Given the description of an element on the screen output the (x, y) to click on. 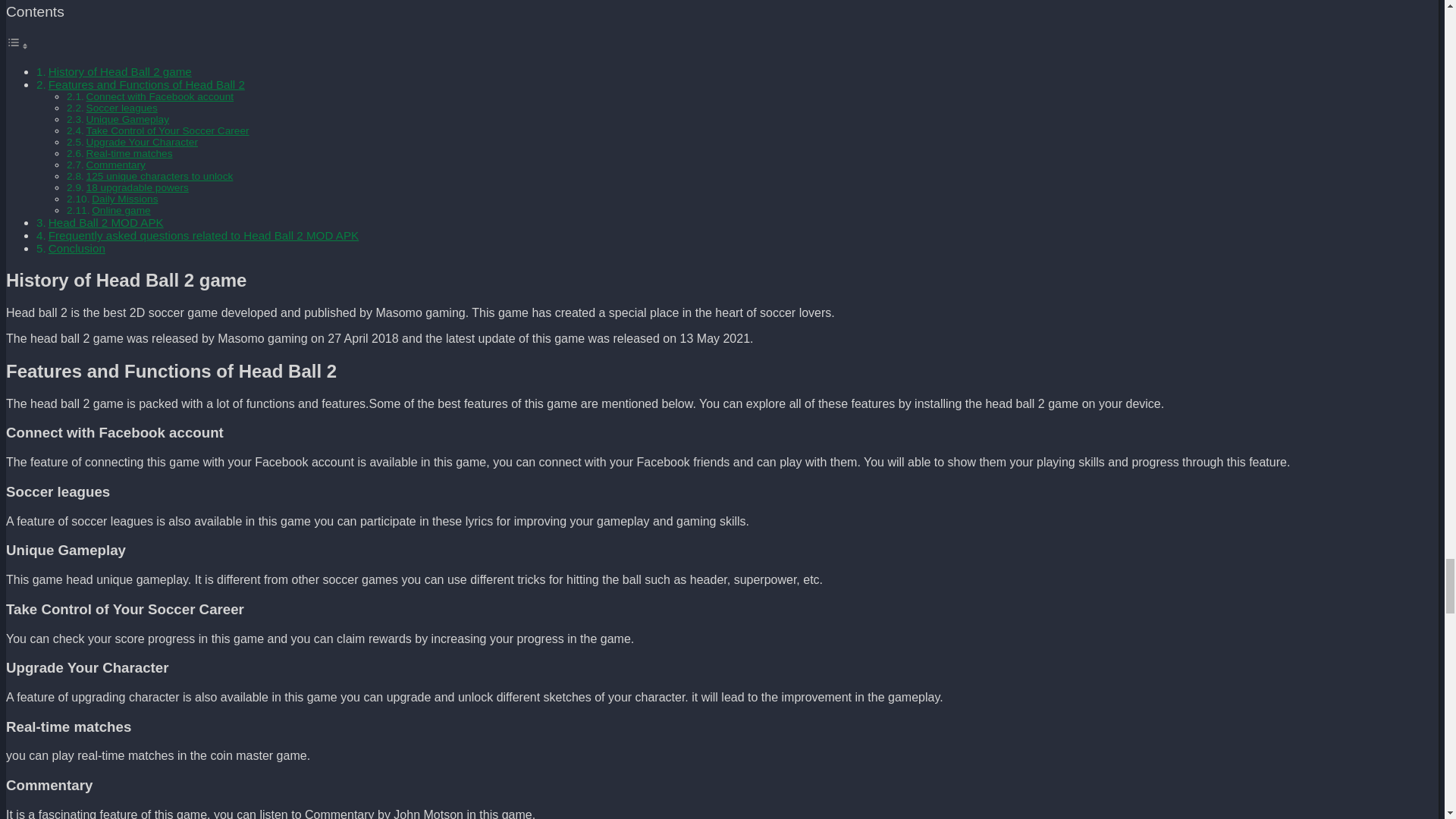
History of Head Ball 2 game (120, 71)
Real-time matches (129, 153)
Unique Gameplay (126, 119)
Commentary (115, 164)
Soccer leagues (121, 107)
Connect with Facebook account (159, 96)
Commentary (115, 164)
Take Control of Your Soccer Career (166, 130)
Take Control of Your Soccer Career  (166, 130)
Soccer leagues (121, 107)
